Given the description of an element on the screen output the (x, y) to click on. 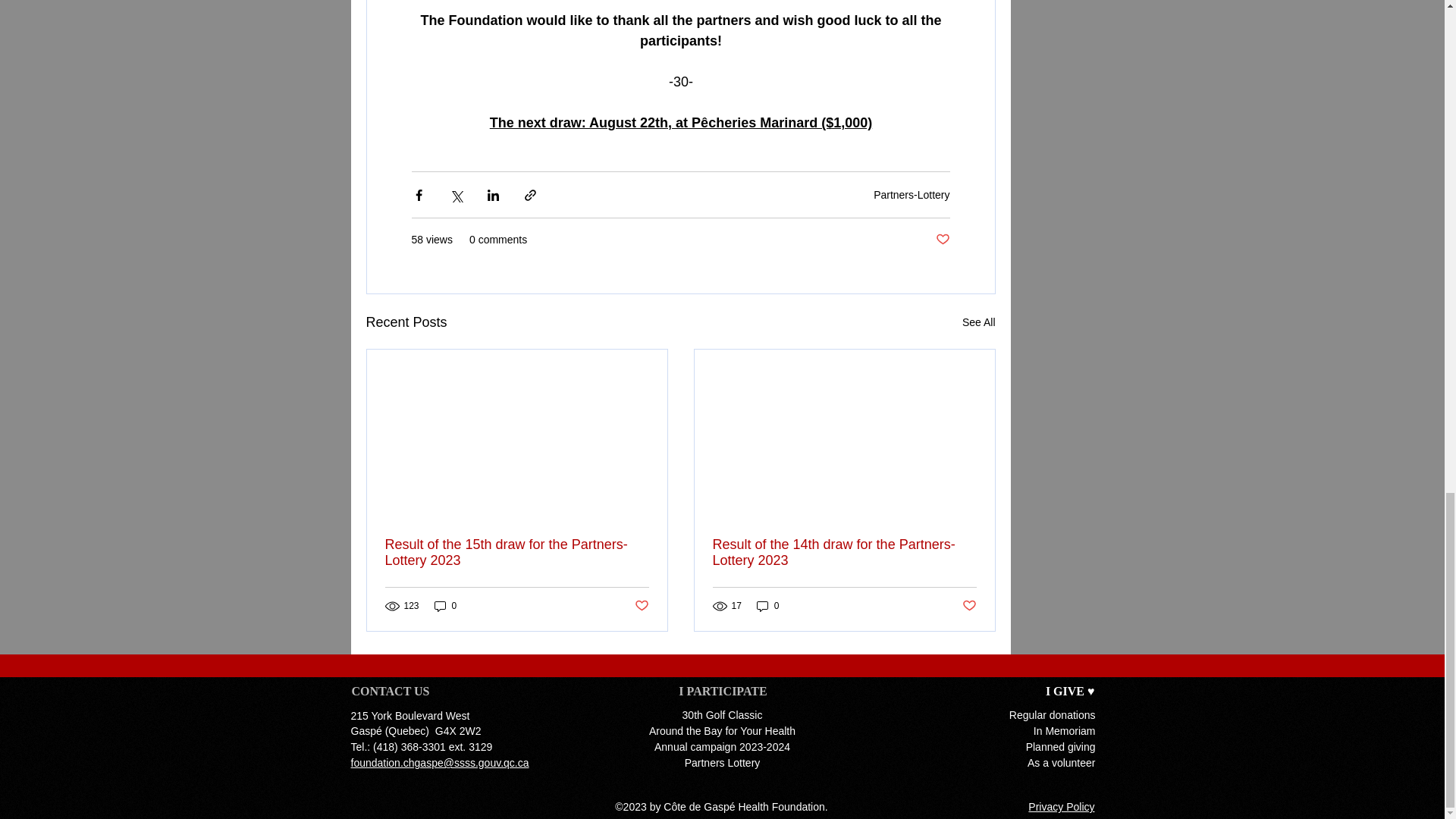
Around the Bay for Your Health (721, 730)
Annual campaign 2023-2024 (721, 746)
Partners Lottery (722, 762)
Result of the 15th draw for the Partners-Lottery 2023 (517, 552)
Partners-Lottery (911, 194)
See All (978, 322)
Result of the 14th draw for the Partners-Lottery 2023 (844, 552)
Post not marked as liked (640, 606)
Post not marked as liked (943, 239)
0 (767, 605)
Post not marked as liked (967, 606)
30th Golf Classic (722, 715)
0 (445, 605)
215 York Boulevard West (409, 715)
